Given the description of an element on the screen output the (x, y) to click on. 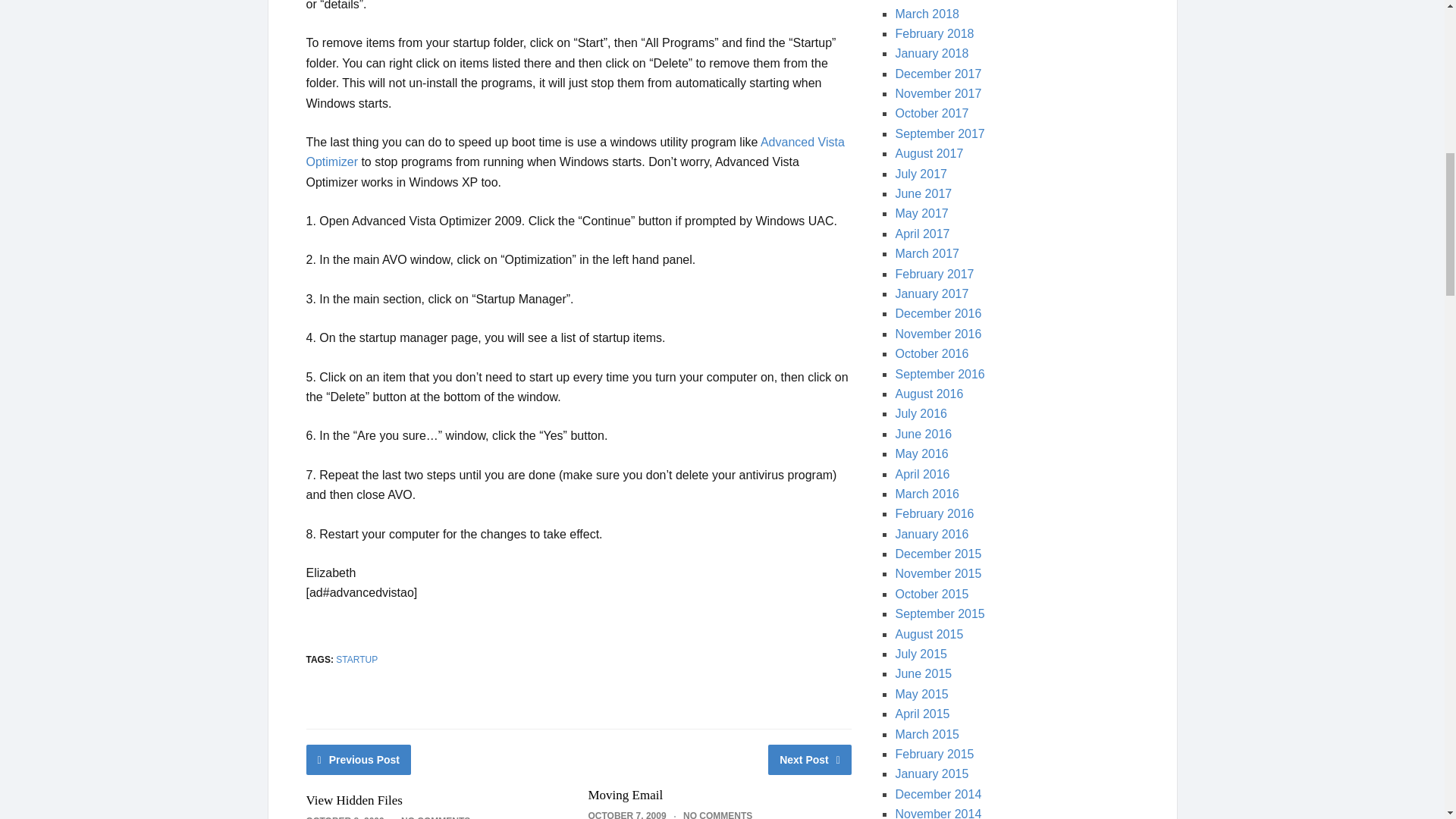
Advanced Vista Optimizer (574, 151)
Previous Post (358, 759)
March 2018 (927, 13)
December 2017 (938, 73)
January 2018 (931, 52)
Moving Email (625, 794)
October 2017 (931, 113)
View Hidden Files (354, 800)
Next Post (809, 759)
NO COMMENTS (435, 817)
STARTUP (356, 659)
February 2018 (934, 33)
November 2017 (938, 92)
NO COMMENTS (717, 814)
